Given the description of an element on the screen output the (x, y) to click on. 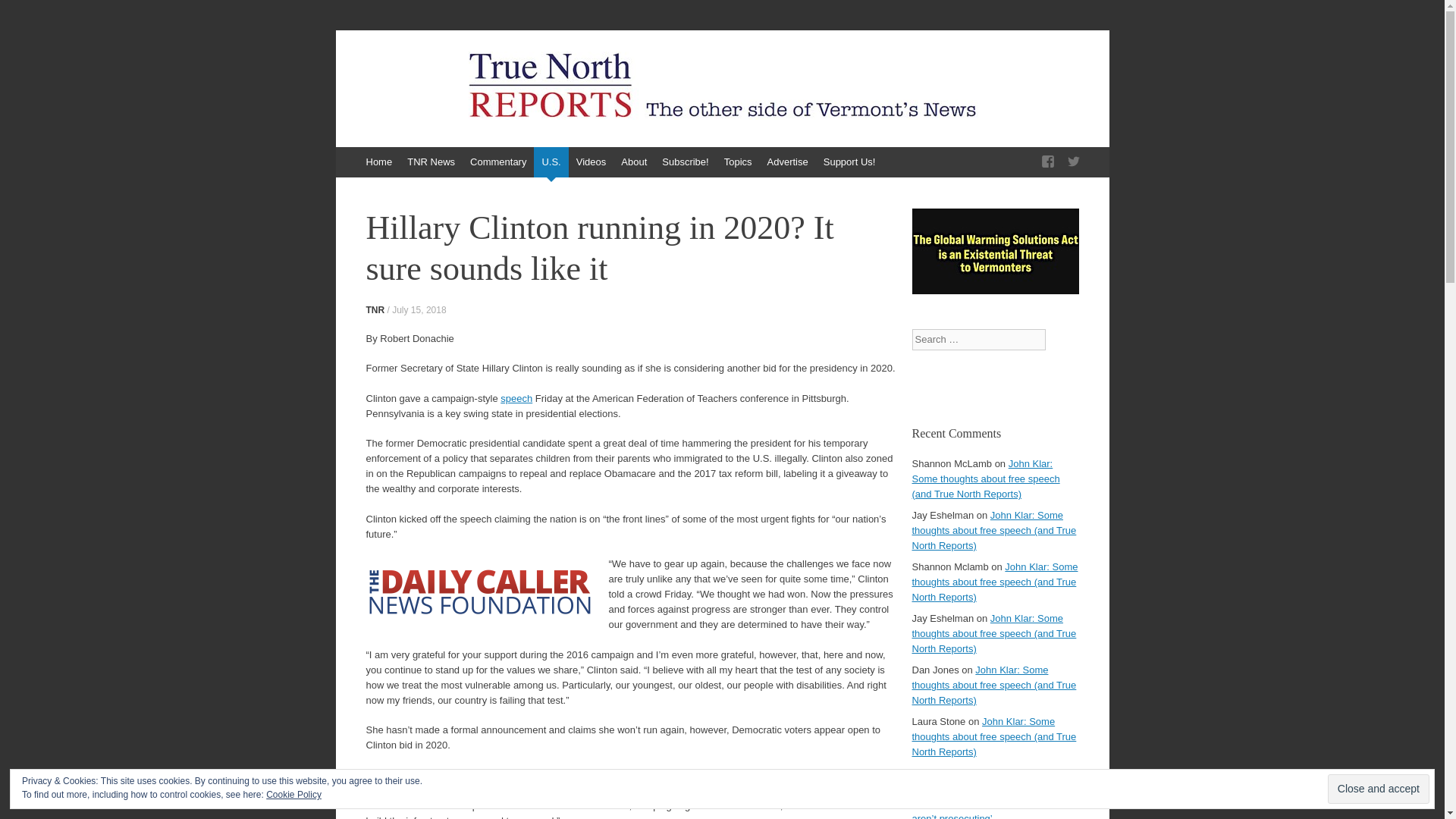
U.S. (550, 162)
TNR News (430, 162)
Videos (591, 162)
Global Warming Solutions Act (994, 290)
True North Reports (465, 80)
Subscribe! (684, 162)
Commentary (498, 162)
Skip to content (342, 154)
True North Reports (465, 80)
Topics (738, 162)
